Given the description of an element on the screen output the (x, y) to click on. 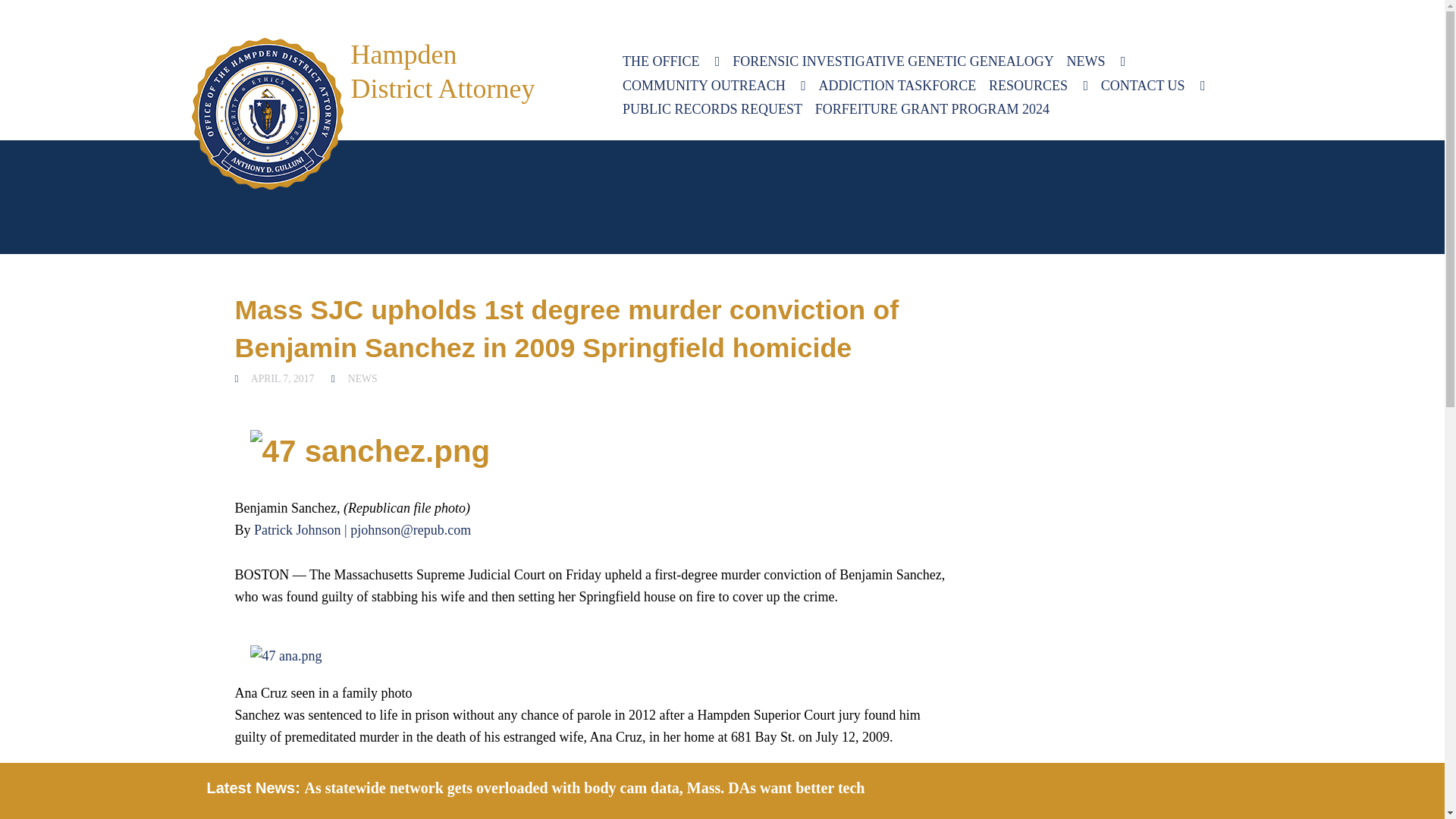
Hampden District Attorney (266, 113)
FORENSIC INVESTIGATIVE GENETIC GENEALOGY (892, 62)
THE OFFICE (671, 62)
NEWS (1095, 62)
